Given the description of an element on the screen output the (x, y) to click on. 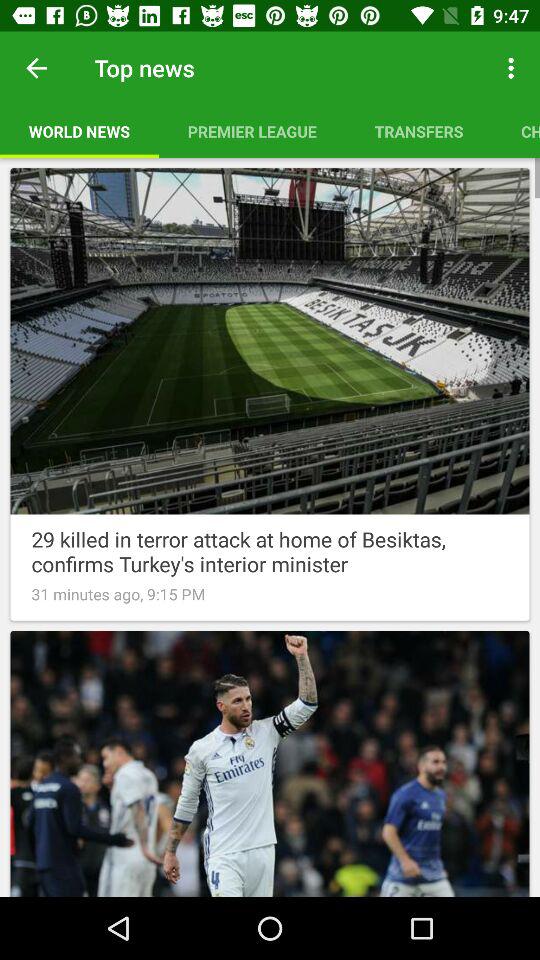
click the item to the left of the premier league item (79, 131)
